Given the description of an element on the screen output the (x, y) to click on. 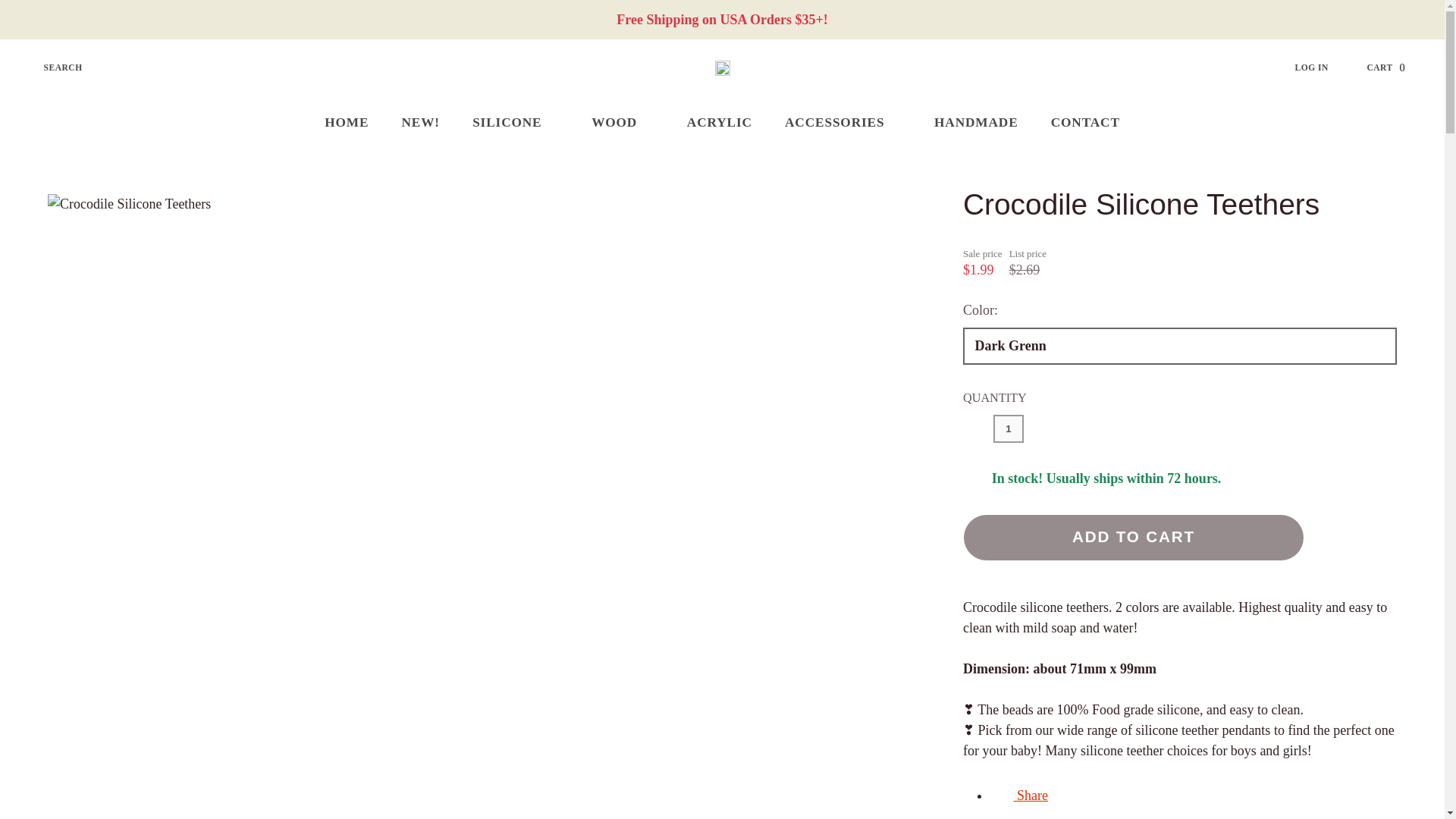
ADD TO CART (1133, 537)
CONTACT (1084, 122)
HANDMADE (975, 122)
SILICONE (516, 122)
1 (1007, 428)
HOME (346, 122)
WOOD (623, 122)
Dark Grenn (1179, 345)
LOG IN (1323, 67)
ACCESSORIES (842, 122)
SEARCH (51, 67)
NEW! (1019, 795)
ACRYLIC (421, 122)
